Given the description of an element on the screen output the (x, y) to click on. 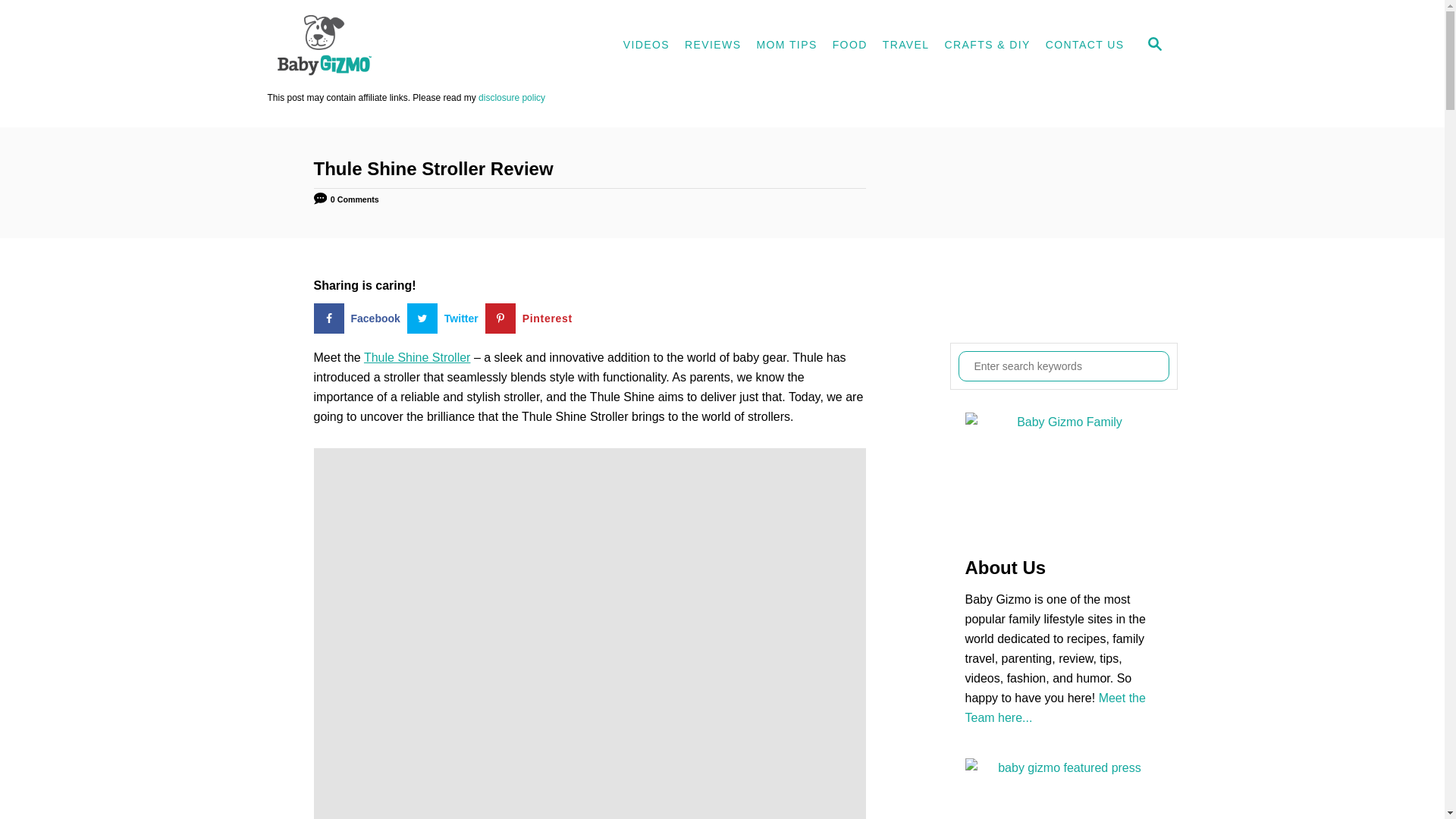
VIDEOS (646, 45)
Share on Twitter (445, 318)
Product Reviews (712, 45)
SEARCH (1153, 45)
Save to Pinterest (531, 318)
Baby Gizmo (403, 45)
Search for: (1063, 365)
MOM TIPS (786, 45)
FOOD (850, 45)
Travel Reviews (906, 45)
